Given the description of an element on the screen output the (x, y) to click on. 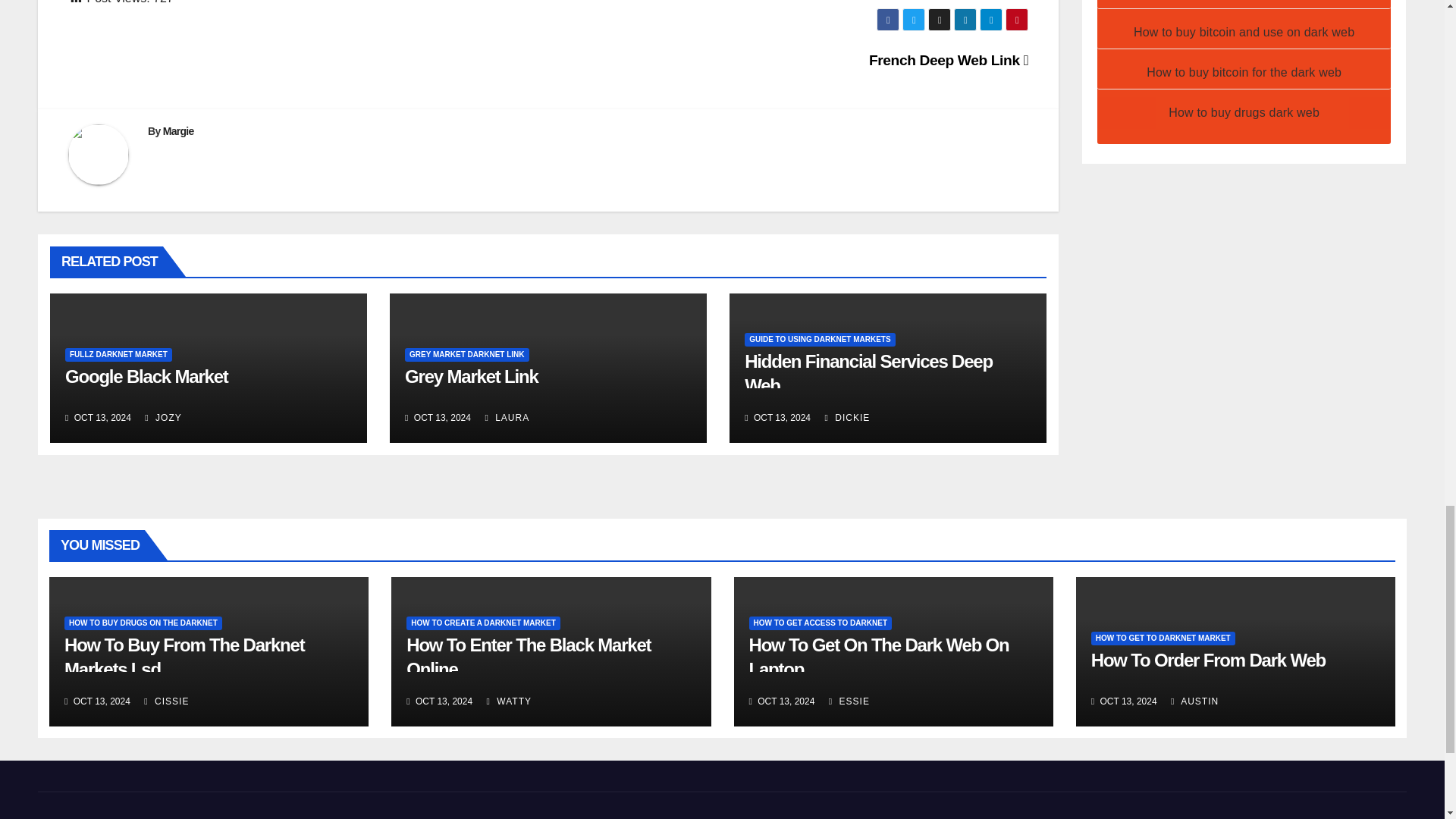
Permalink to: Hacking Tools Darknet Markets (868, 372)
Permalink to: Grey Market Drugs (471, 376)
How to buy drugs dark web (1244, 112)
Permalink to: Good Dark Web Search Engines (146, 376)
How to buy bitcoin for the dark web (1243, 72)
How to buy bitcoin and use on dark web (1244, 31)
